Given the description of an element on the screen output the (x, y) to click on. 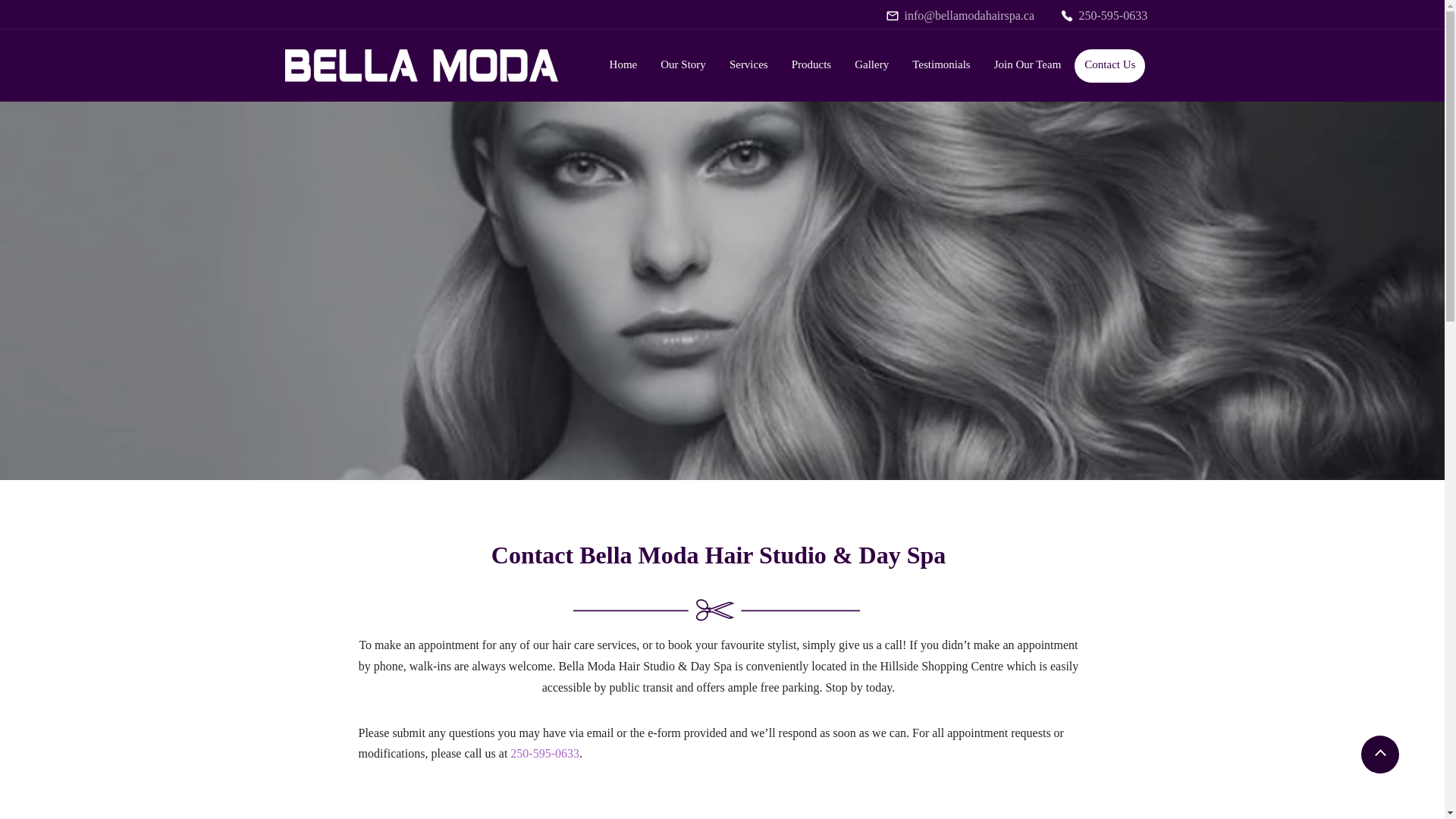
Services (748, 65)
Products (811, 65)
Gallery (871, 65)
Testimonials (940, 65)
Contact Us (1109, 65)
Our Story (683, 65)
250-595-0633 (545, 753)
Join Our Team (1027, 65)
250-595-0633 (1109, 15)
Home (623, 65)
